Given the description of an element on the screen output the (x, y) to click on. 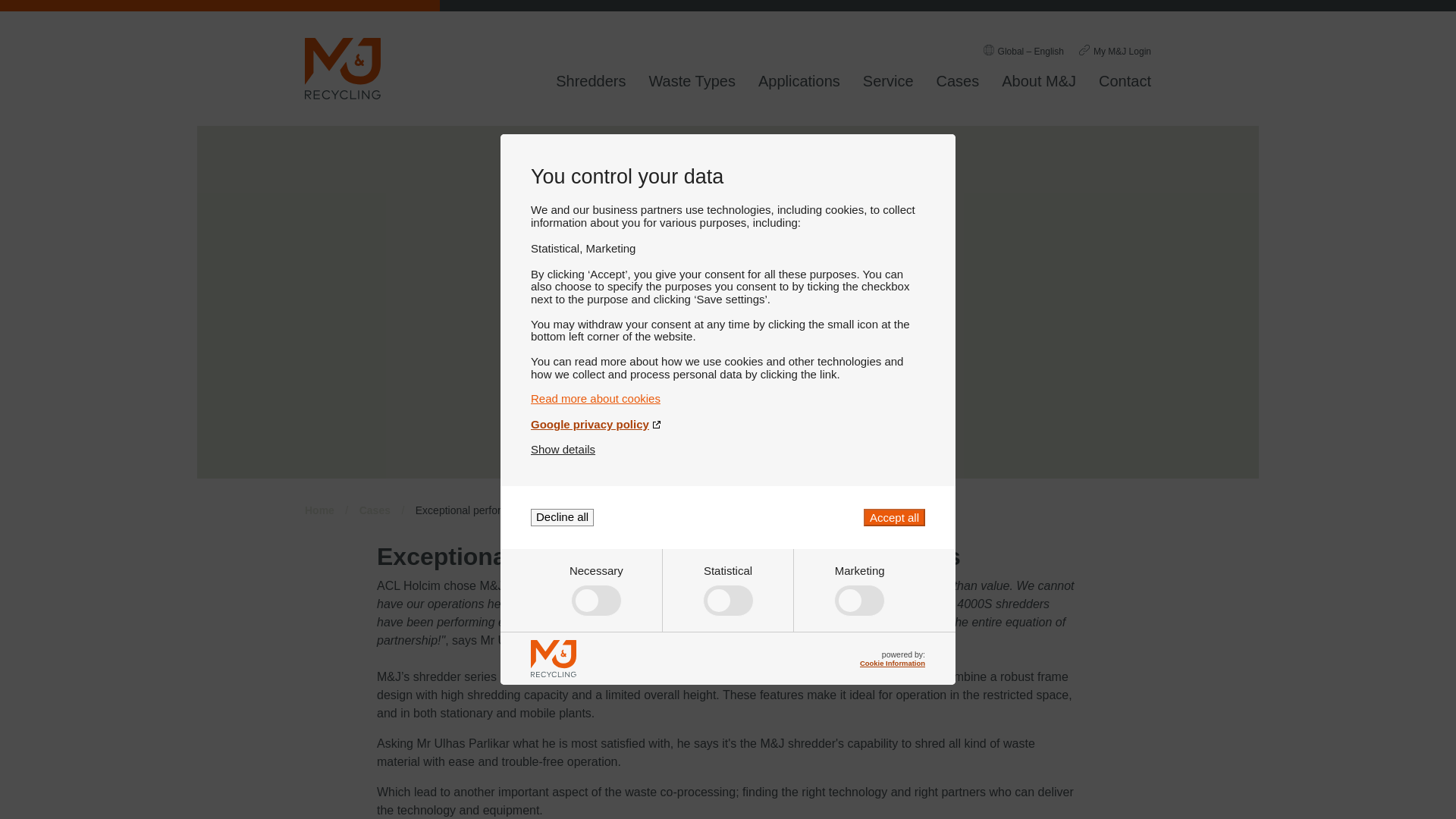
Decline all (562, 517)
Show details (563, 449)
Google privacy policy (727, 423)
Cookie Information (892, 663)
Accept all (893, 517)
Read more about cookies (727, 398)
